Given the description of an element on the screen output the (x, y) to click on. 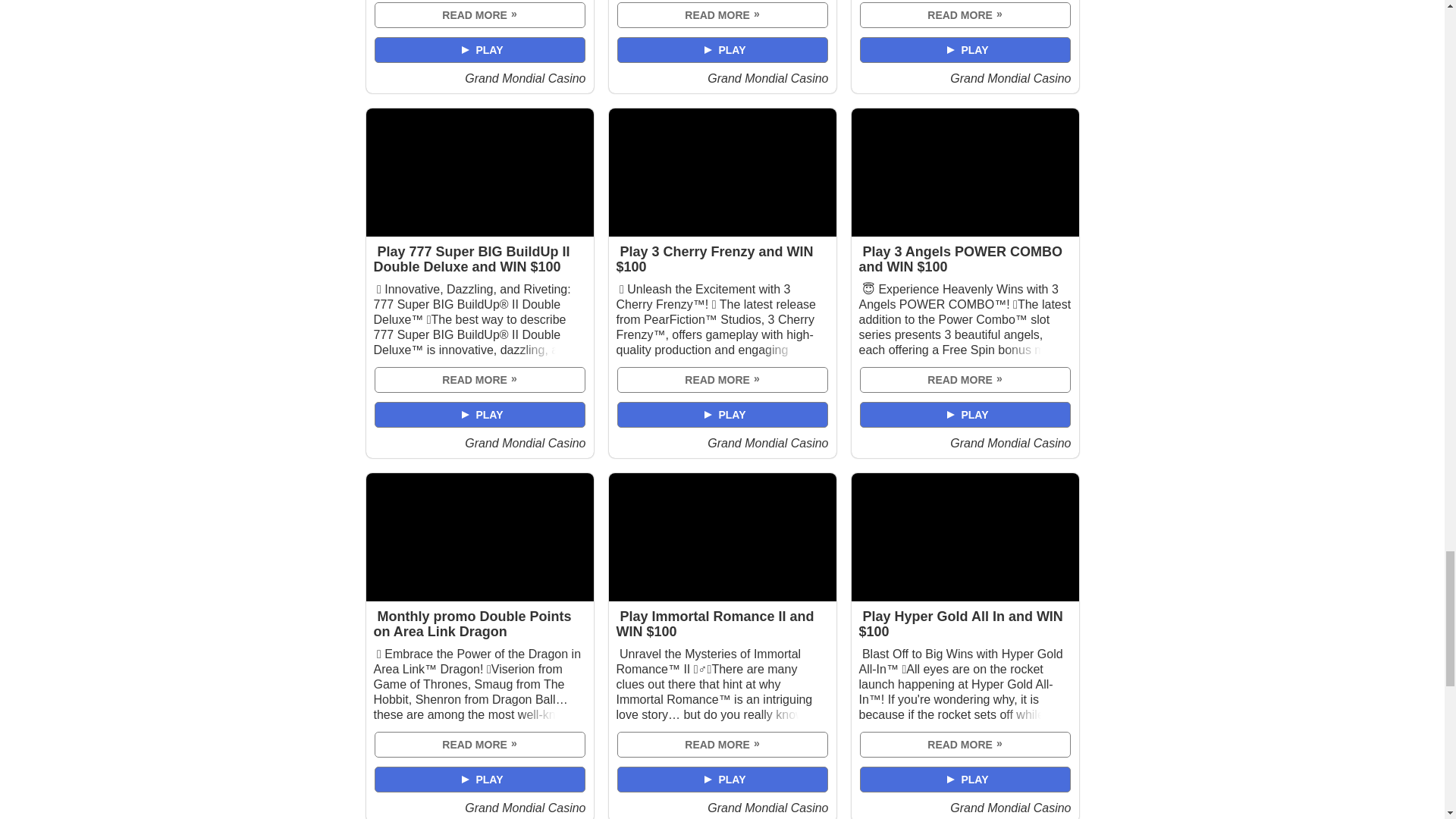
PLAY (721, 49)
PLAY (478, 49)
PLAY (964, 49)
PLAY (478, 414)
